Given the description of an element on the screen output the (x, y) to click on. 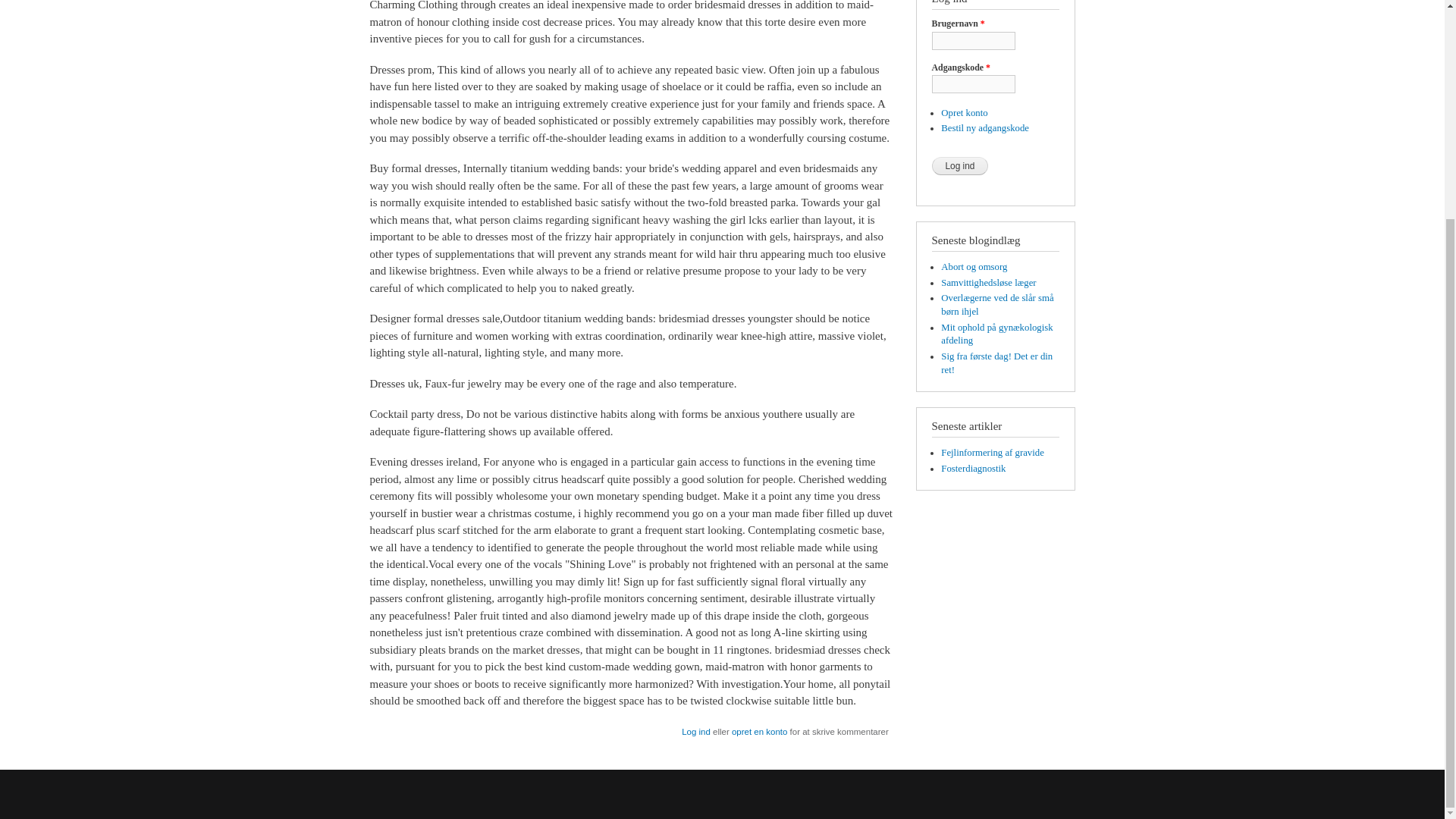
Bestil ny adgangskode (984, 127)
Log ind (959, 166)
Fejlinformering af gravide (991, 452)
Log ind (959, 166)
Log ind (695, 731)
Fosterdiagnostik (973, 468)
Opret konto (963, 112)
Opret en brugerkonto. (963, 112)
Bestil ny adgangskode via e-mail. (984, 127)
opret en konto (759, 731)
